Given the description of an element on the screen output the (x, y) to click on. 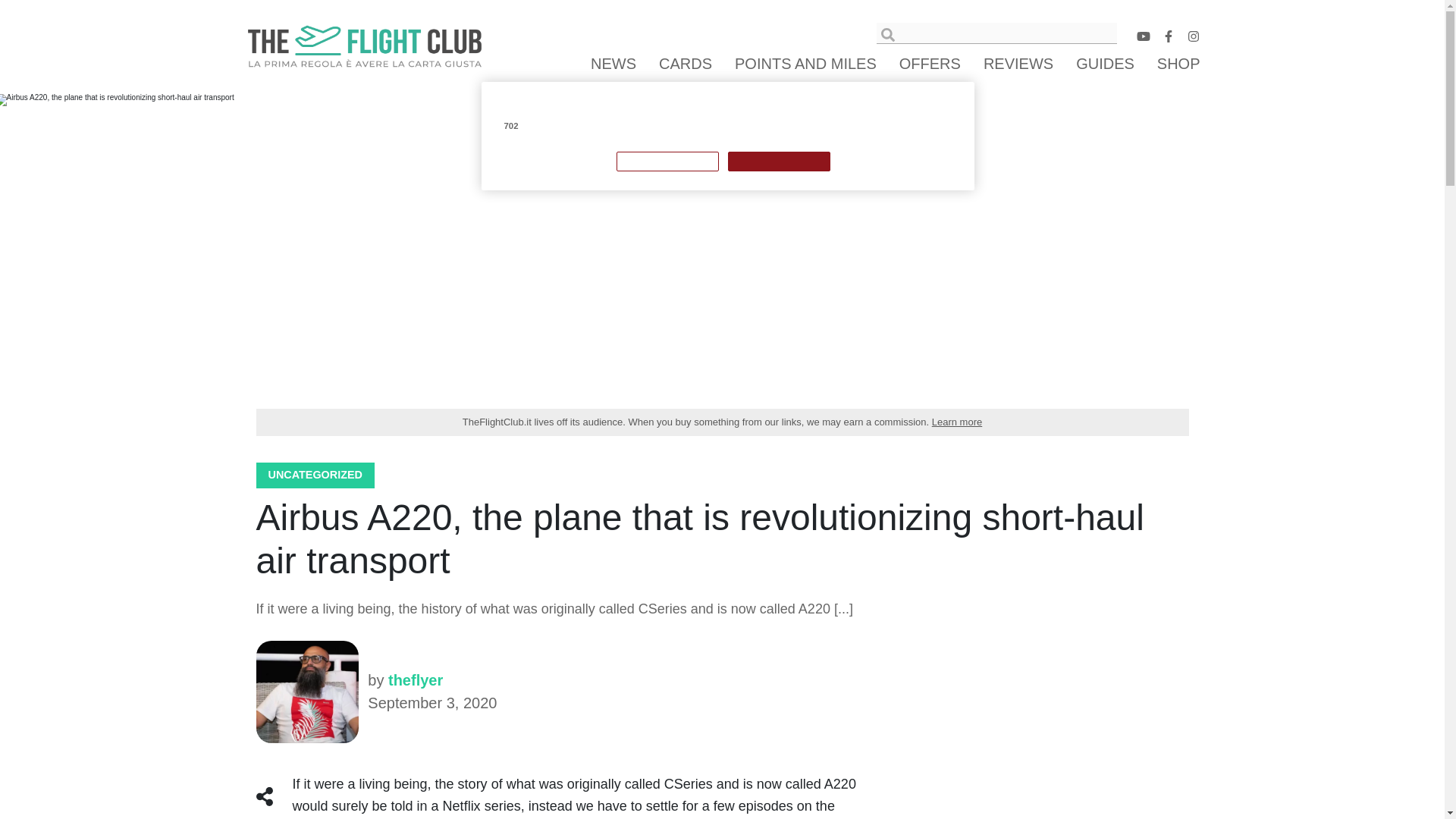
theflyer (415, 679)
SHOP (1176, 63)
POINTS AND MILES (805, 63)
GUIDES (1104, 63)
CARDS (685, 63)
OFFERS (929, 63)
theflightclub.it on YouTube (1142, 40)
NEWS (613, 63)
theflyer (307, 691)
theflightclub.it on Facebook (1167, 40)
